Given the description of an element on the screen output the (x, y) to click on. 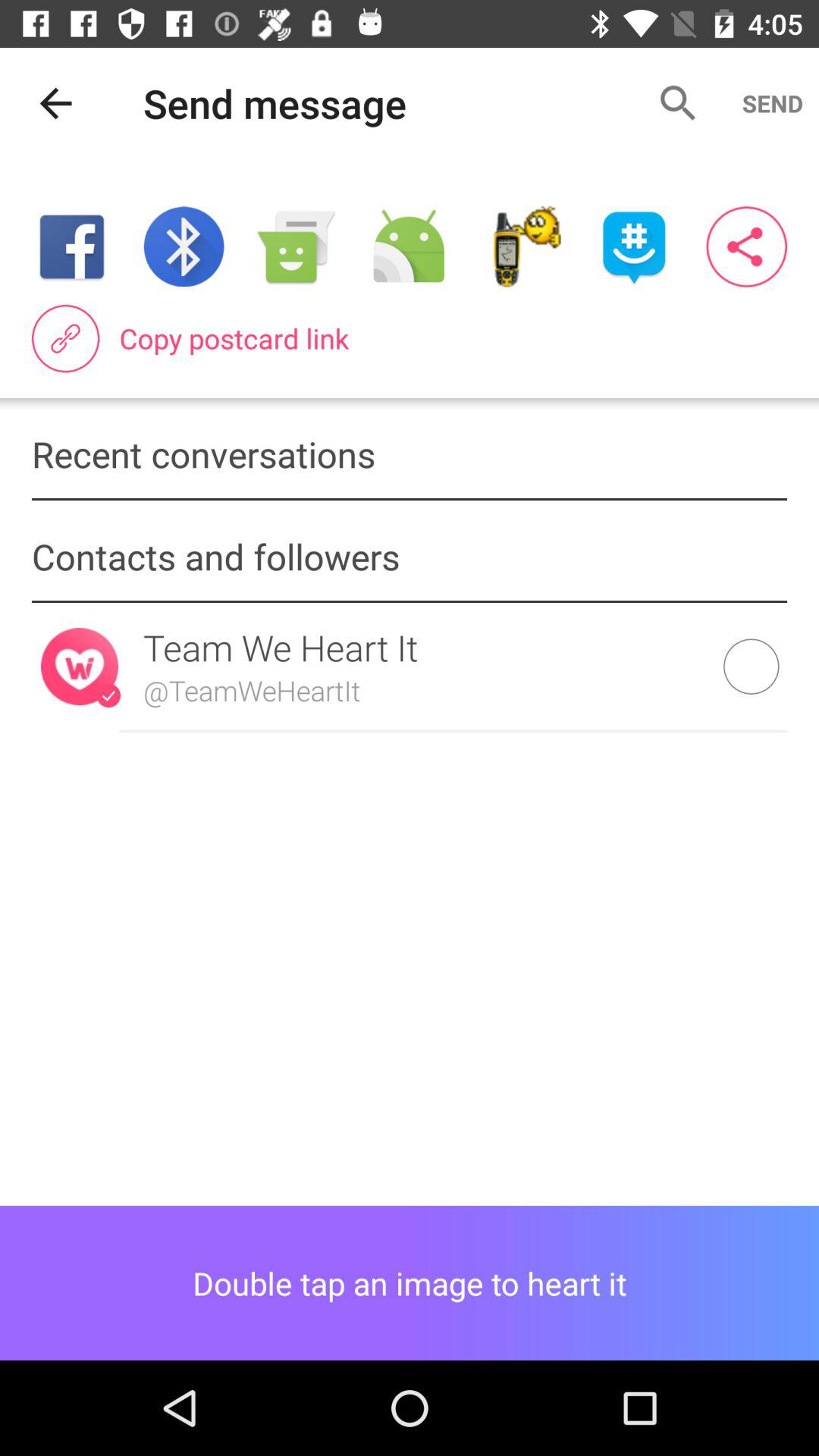
click the item above copy postcard link item (746, 246)
